Given the description of an element on the screen output the (x, y) to click on. 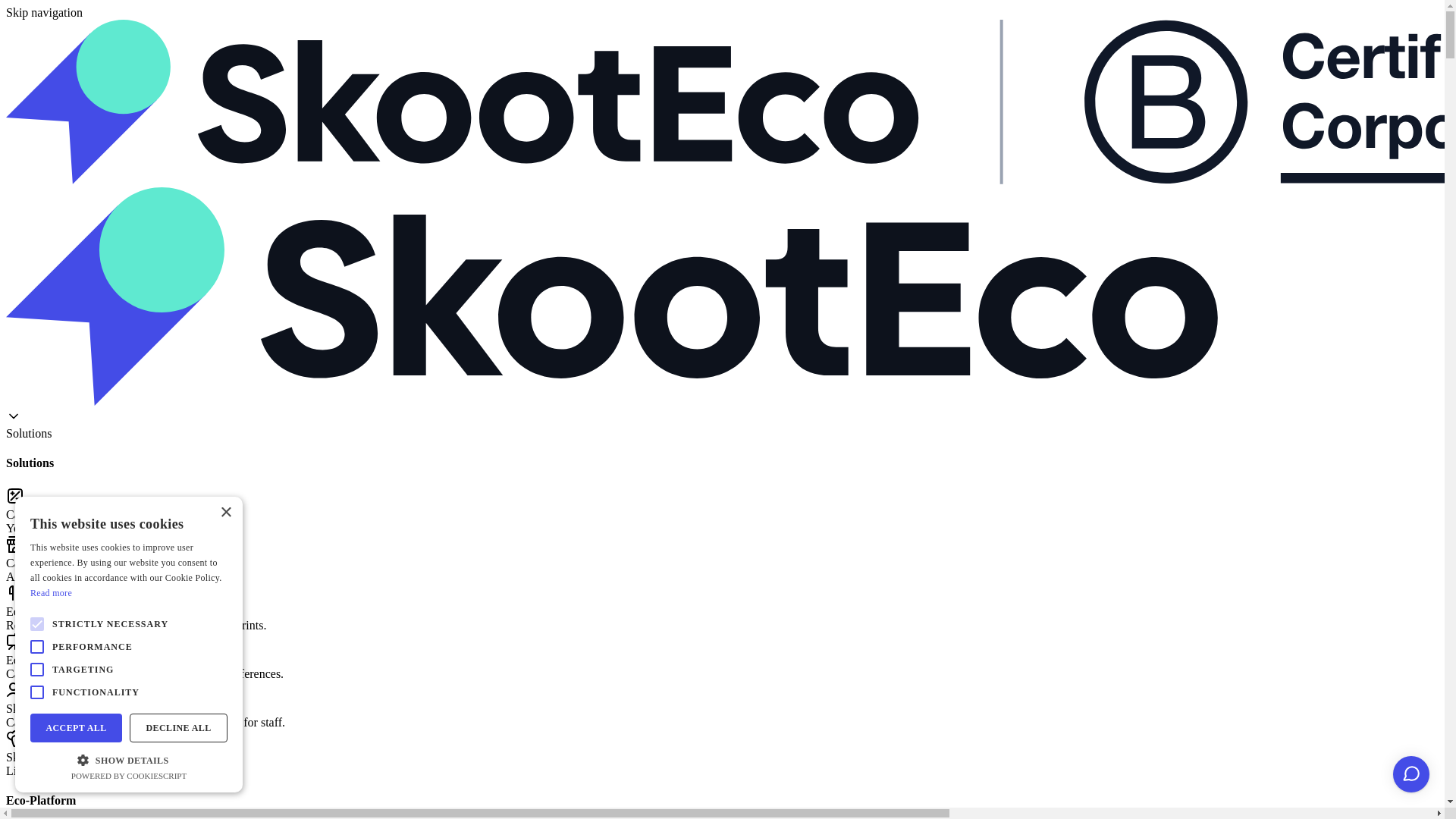
Consent Management Platform (128, 775)
